Given the description of an element on the screen output the (x, y) to click on. 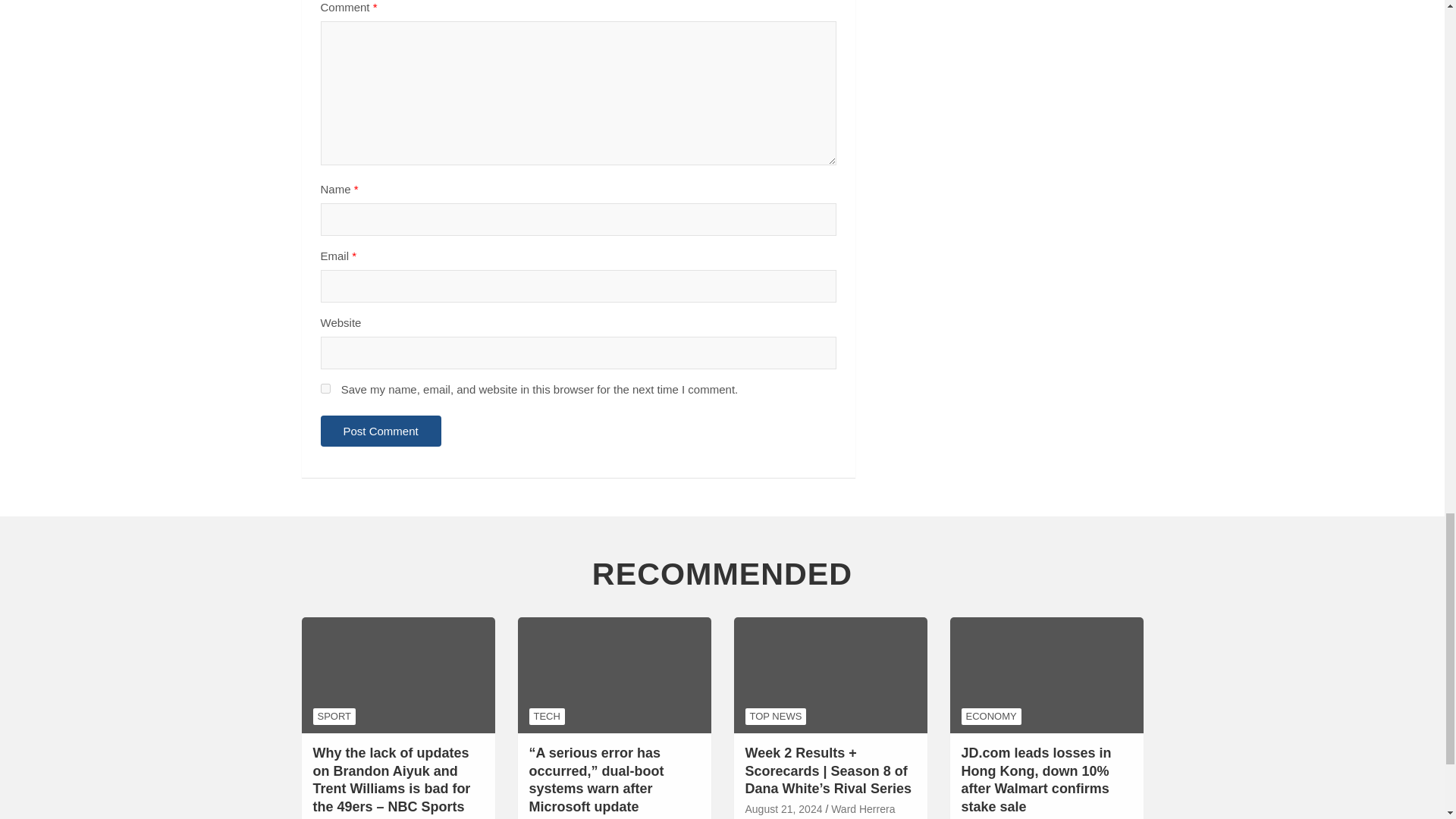
Post Comment (380, 430)
SPORT (334, 716)
yes (325, 388)
Post Comment (380, 430)
